Given the description of an element on the screen output the (x, y) to click on. 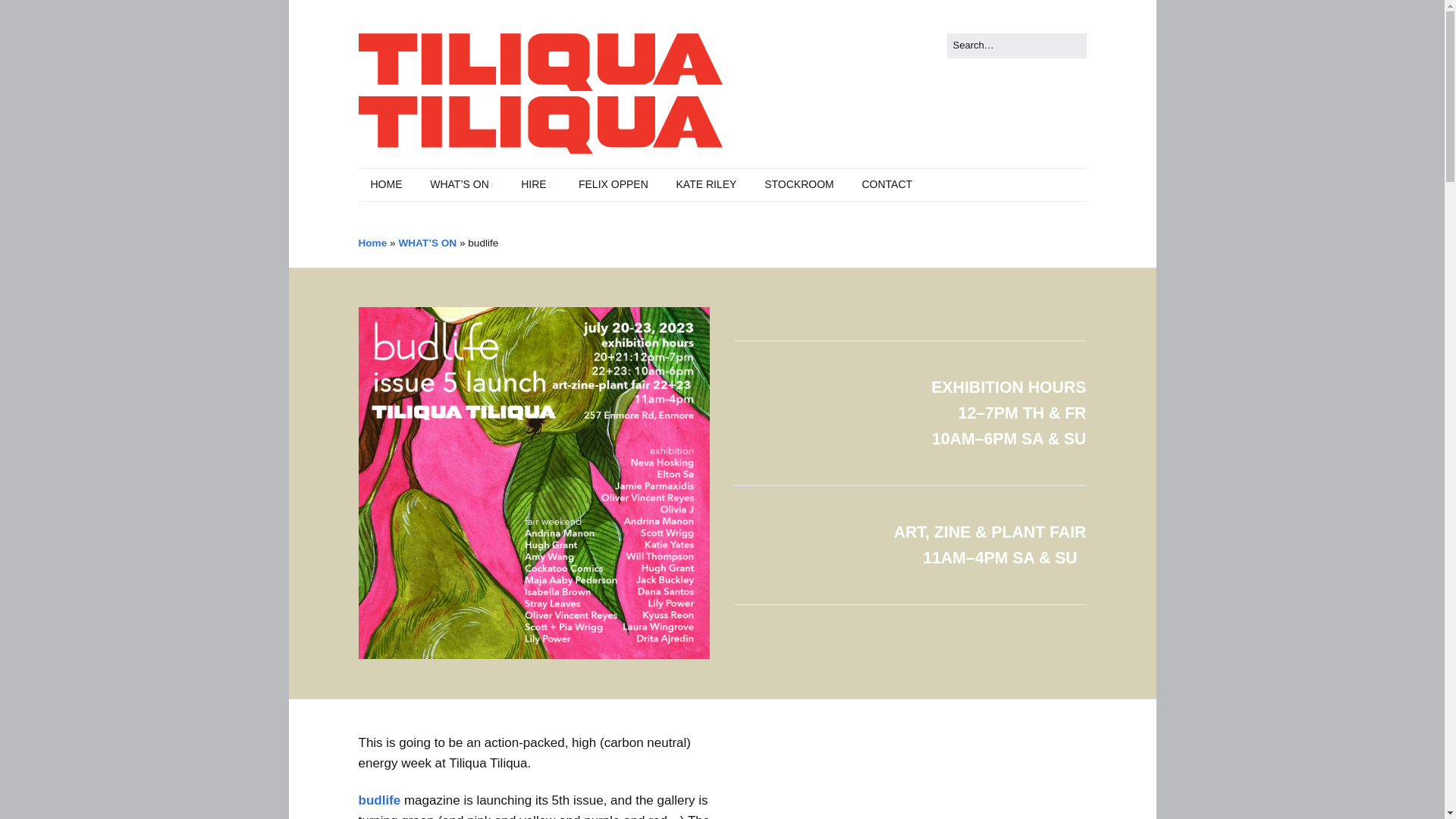
Press Enter to submit your search (1016, 45)
Home (372, 242)
STOCKROOM (798, 184)
CONTACT (886, 184)
HIRE (535, 184)
HOME (385, 184)
budlife (379, 800)
KATE RILEY (706, 184)
FELIX OPPEN (613, 184)
Search (29, 15)
